Given the description of an element on the screen output the (x, y) to click on. 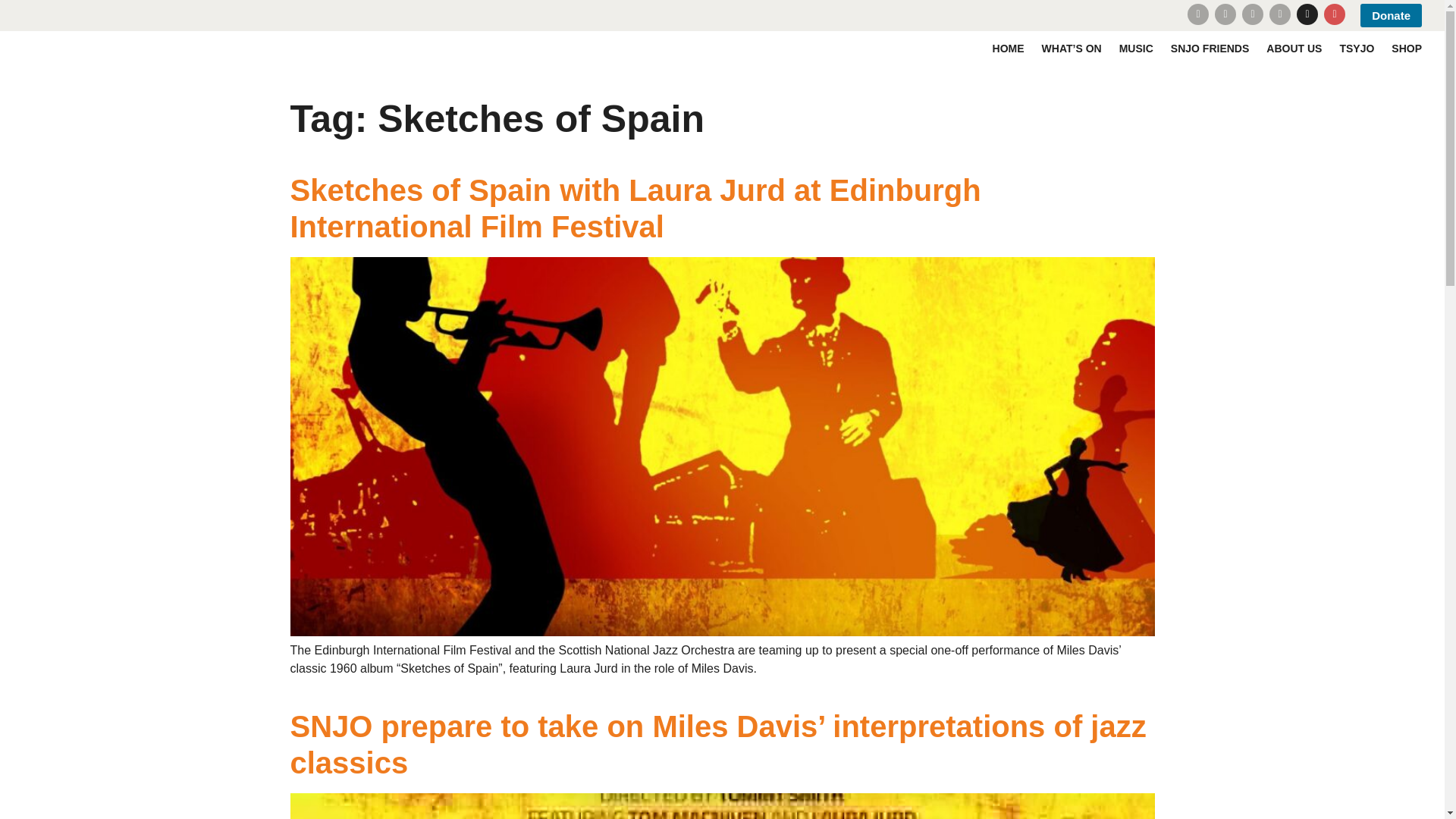
SNJO FRIENDS (1209, 48)
TSYJO (1356, 48)
Donate (1390, 15)
MUSIC (1136, 48)
HOME (1008, 48)
ABOUT US (1294, 48)
SHOP (1406, 48)
